Given the description of an element on the screen output the (x, y) to click on. 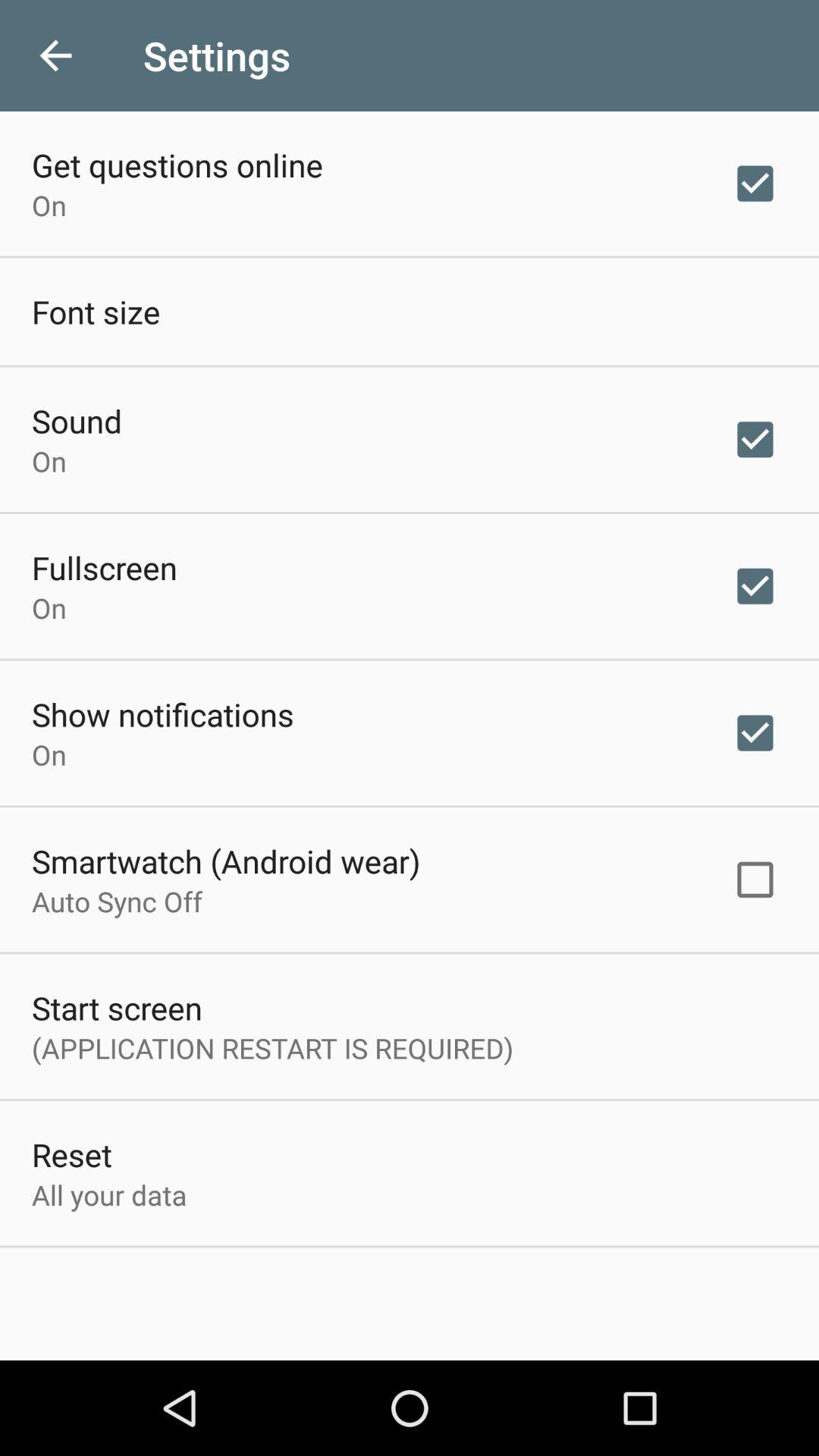
open icon above the on (162, 713)
